Given the description of an element on the screen output the (x, y) to click on. 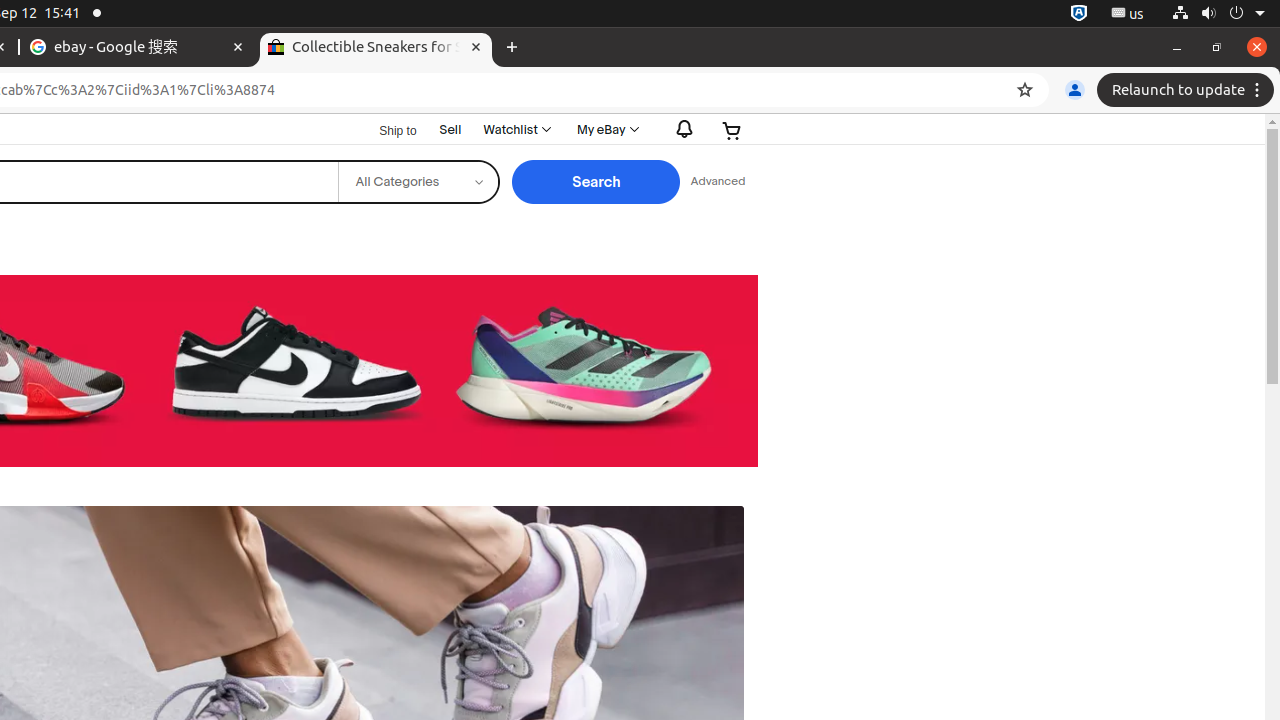
:1.21/StatusNotifierItem Element type: menu (1127, 13)
Watchlist Element type: link (516, 130)
Your shopping cart Element type: link (732, 130)
New Tab Element type: push-button (512, 47)
Bookmark this tab Element type: push-button (1025, 90)
